Given the description of an element on the screen output the (x, y) to click on. 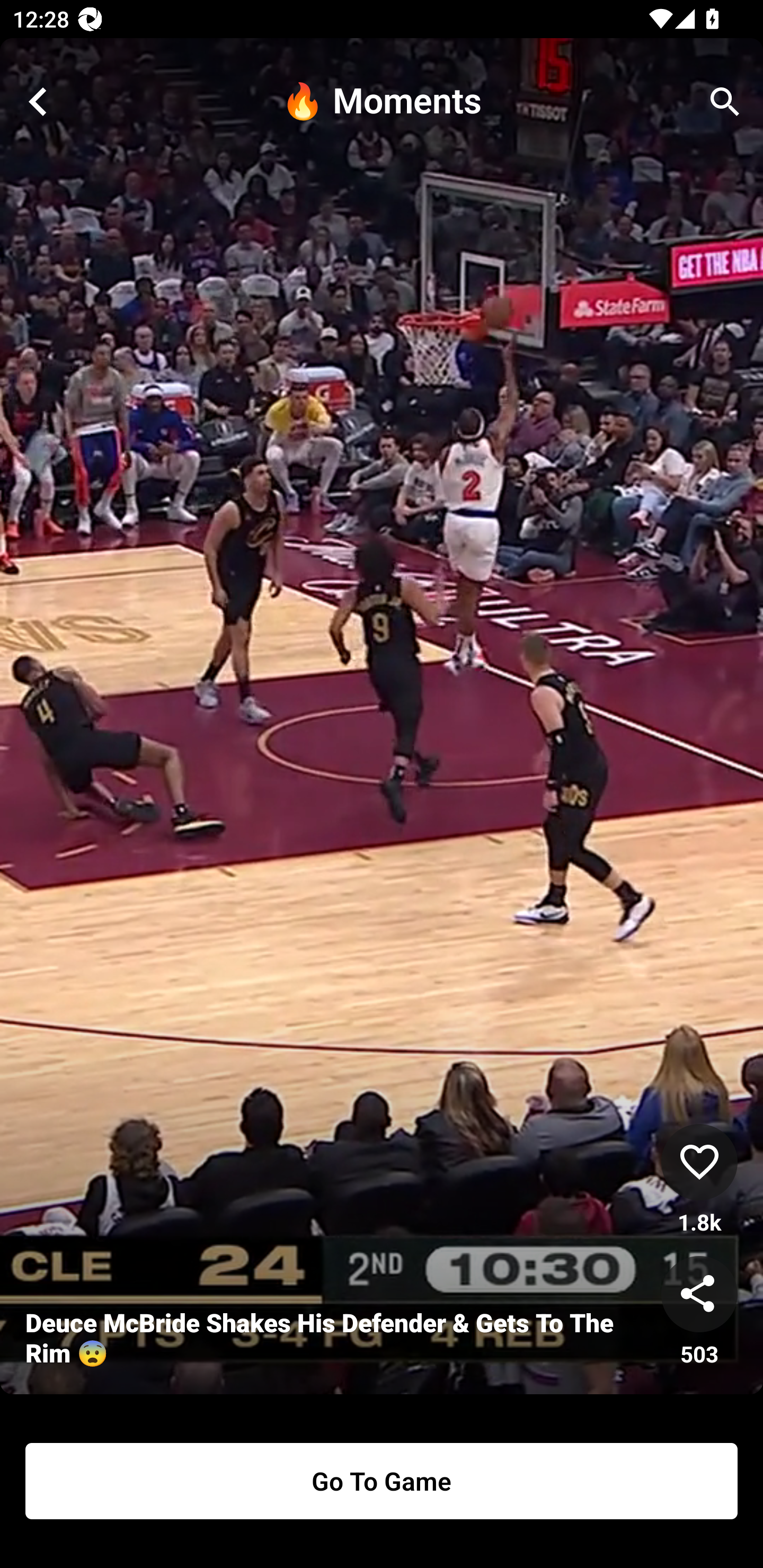
close (38, 101)
search (724, 101)
like 1.8k 1825 Likes (699, 1180)
share 503 503 Shares (699, 1311)
Go To Game (381, 1480)
